Given the description of an element on the screen output the (x, y) to click on. 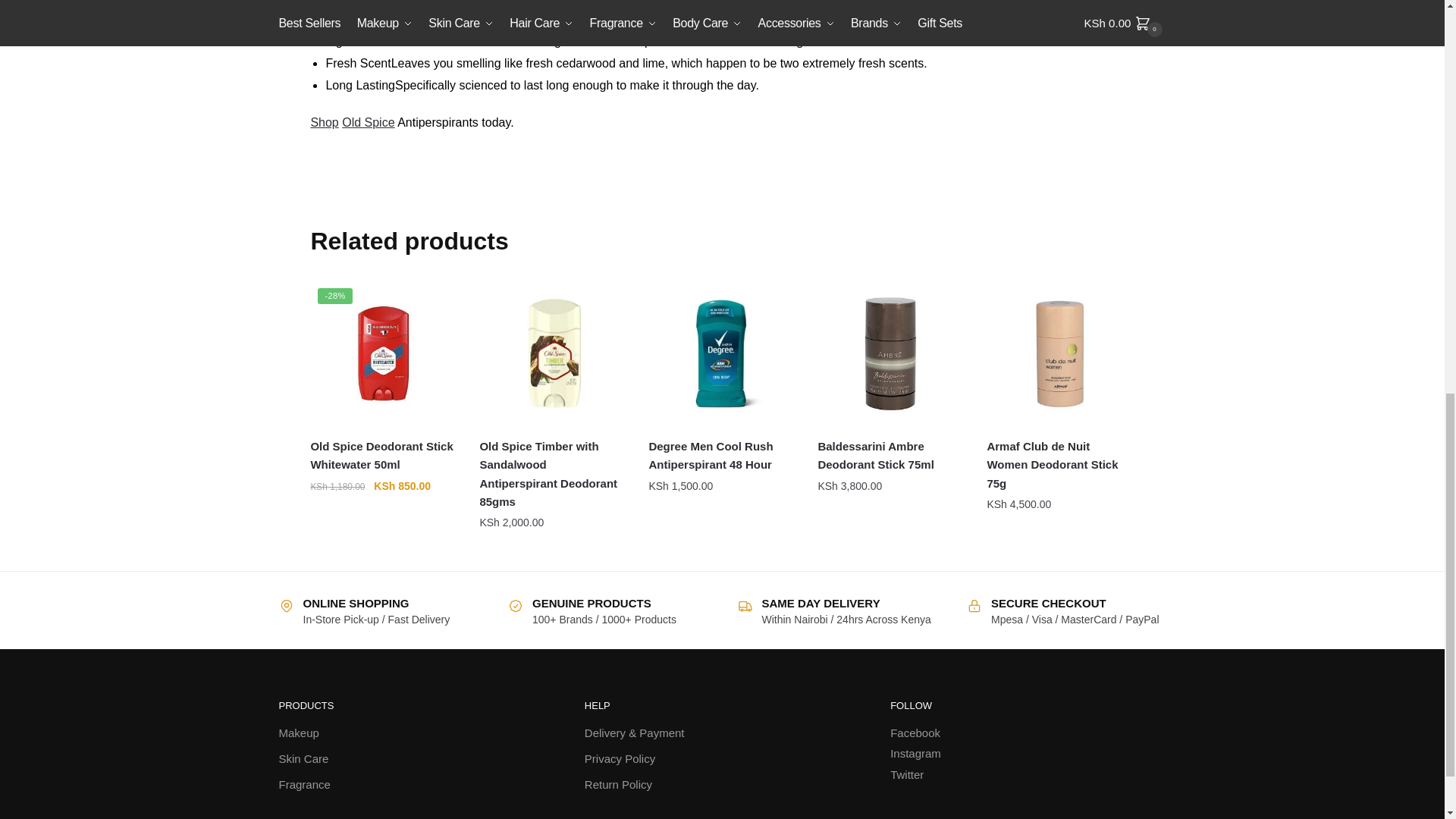
Instagram (914, 753)
Fragrances (304, 784)
Makeup (298, 733)
Skin Care (304, 759)
Facebook (914, 733)
Twitter (906, 774)
